Given the description of an element on the screen output the (x, y) to click on. 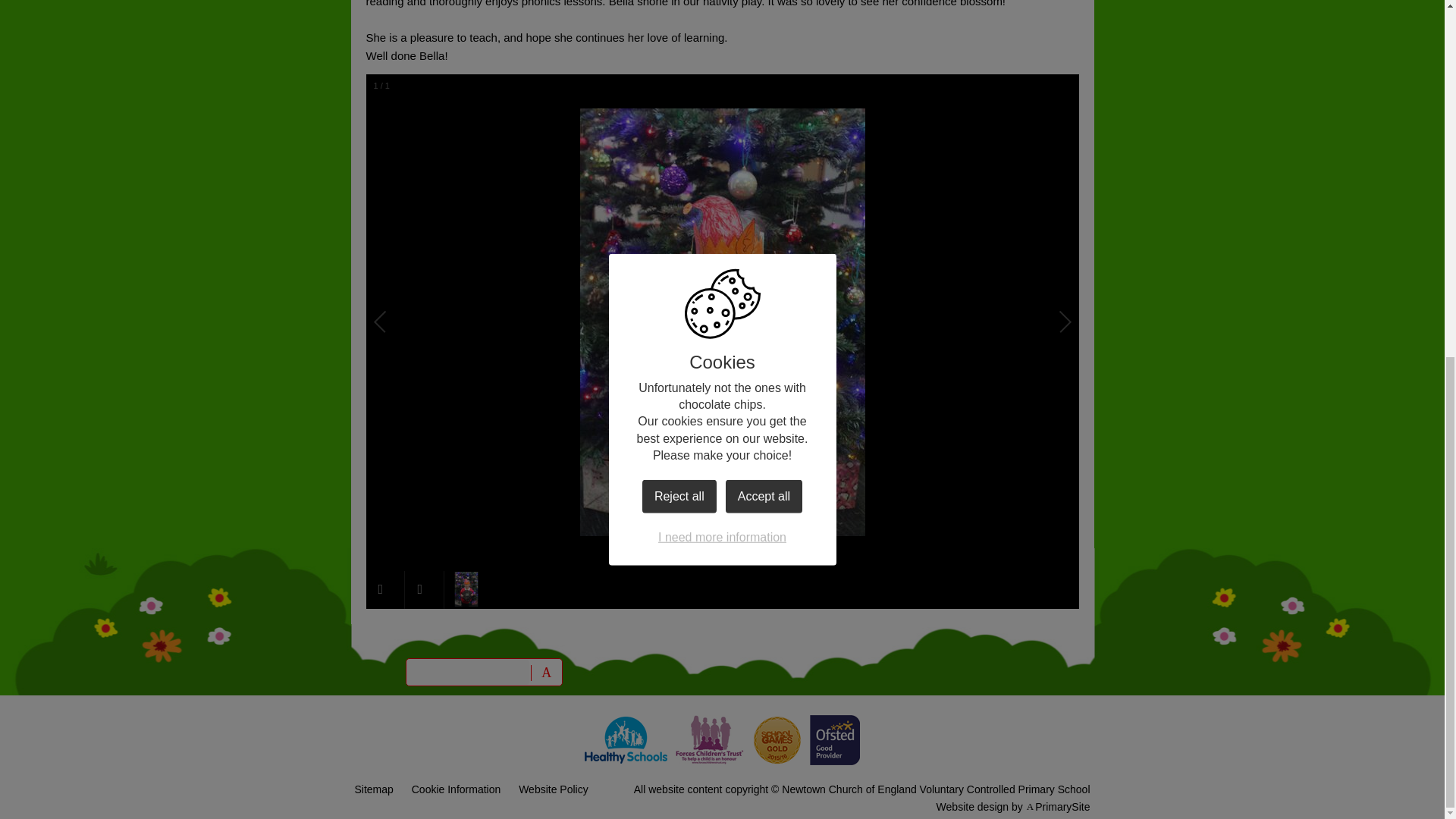
A (546, 672)
